Given the description of an element on the screen output the (x, y) to click on. 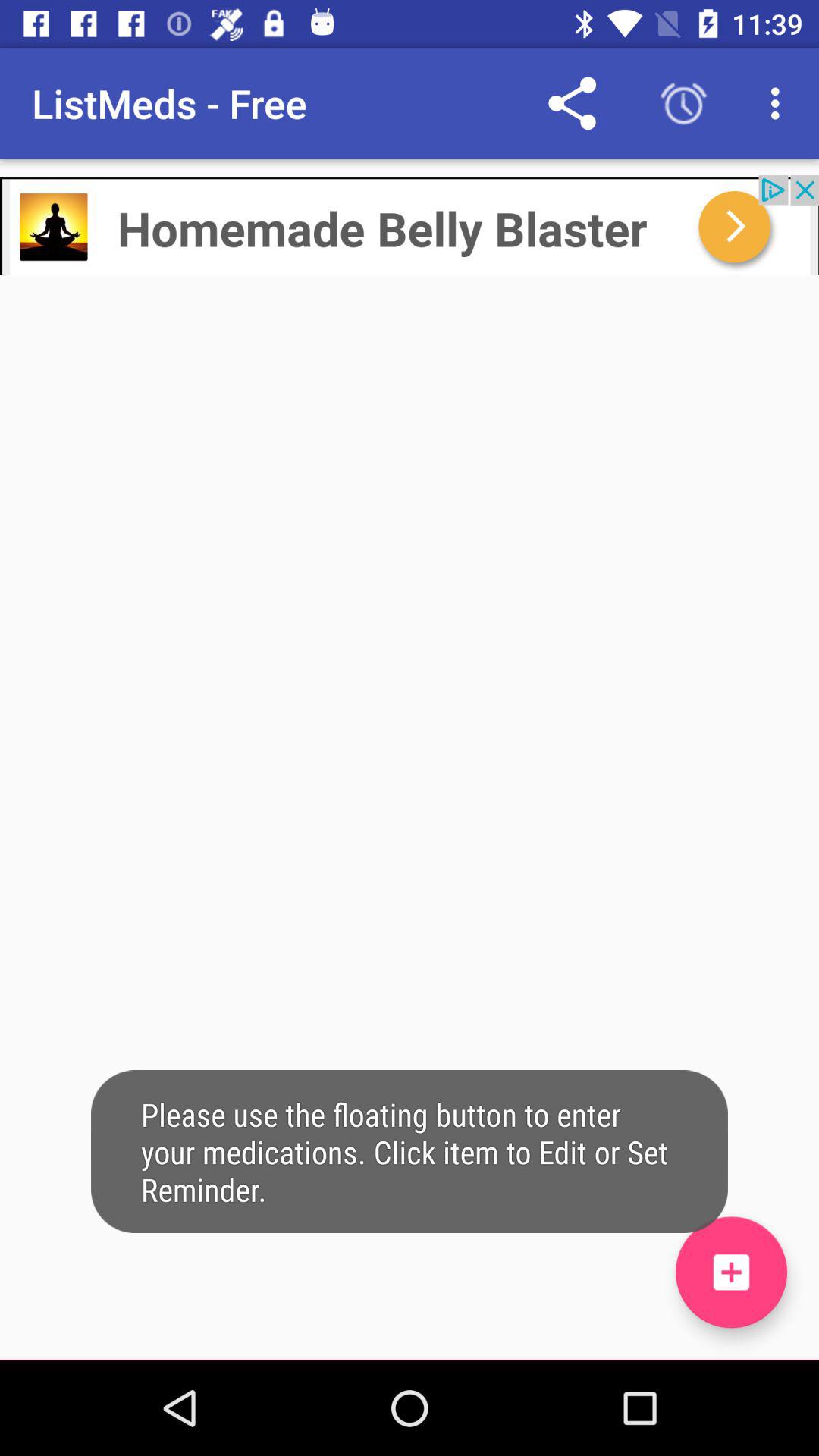
advertisement (409, 224)
